Given the description of an element on the screen output the (x, y) to click on. 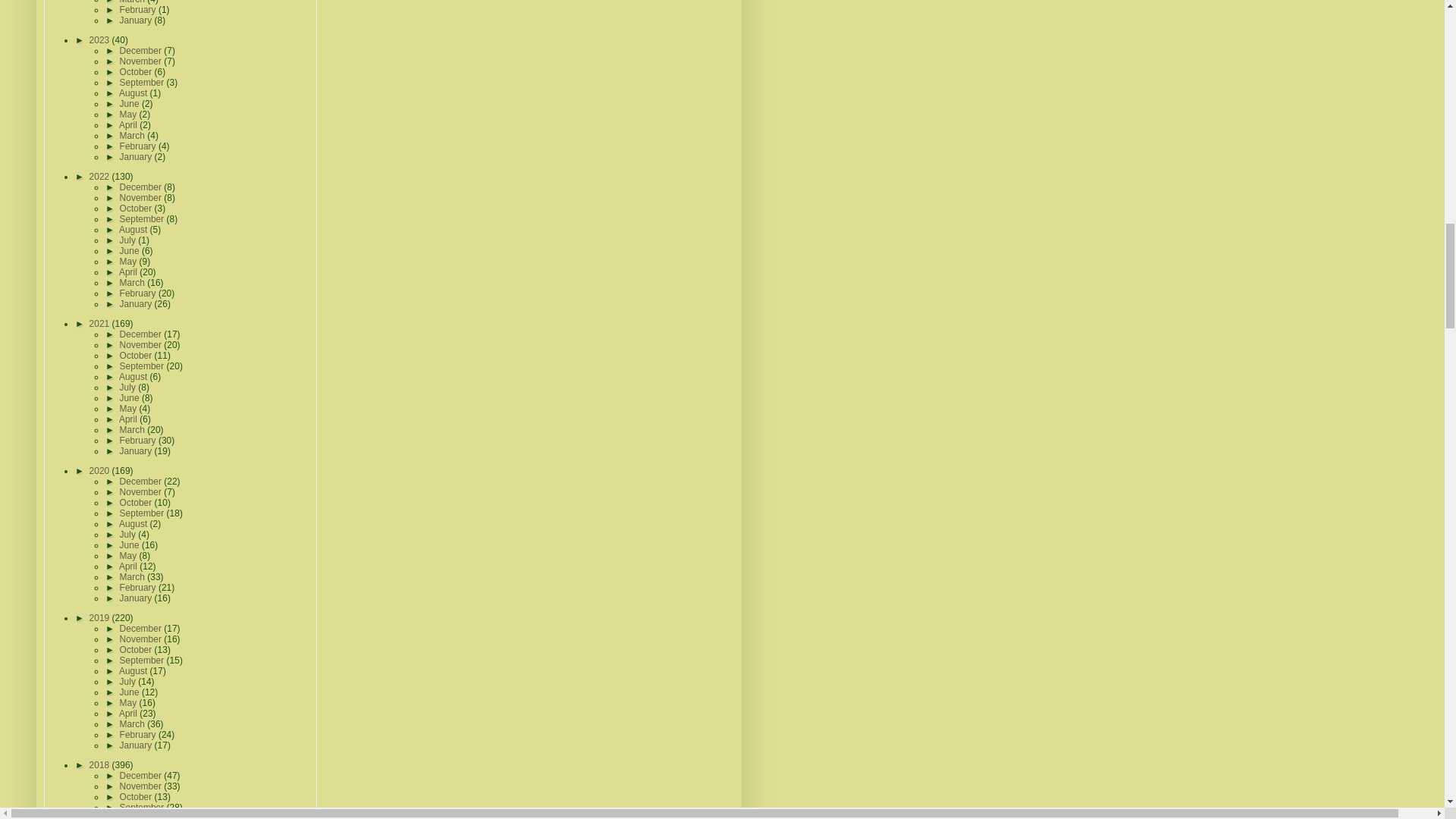
March (133, 2)
